Given the description of an element on the screen output the (x, y) to click on. 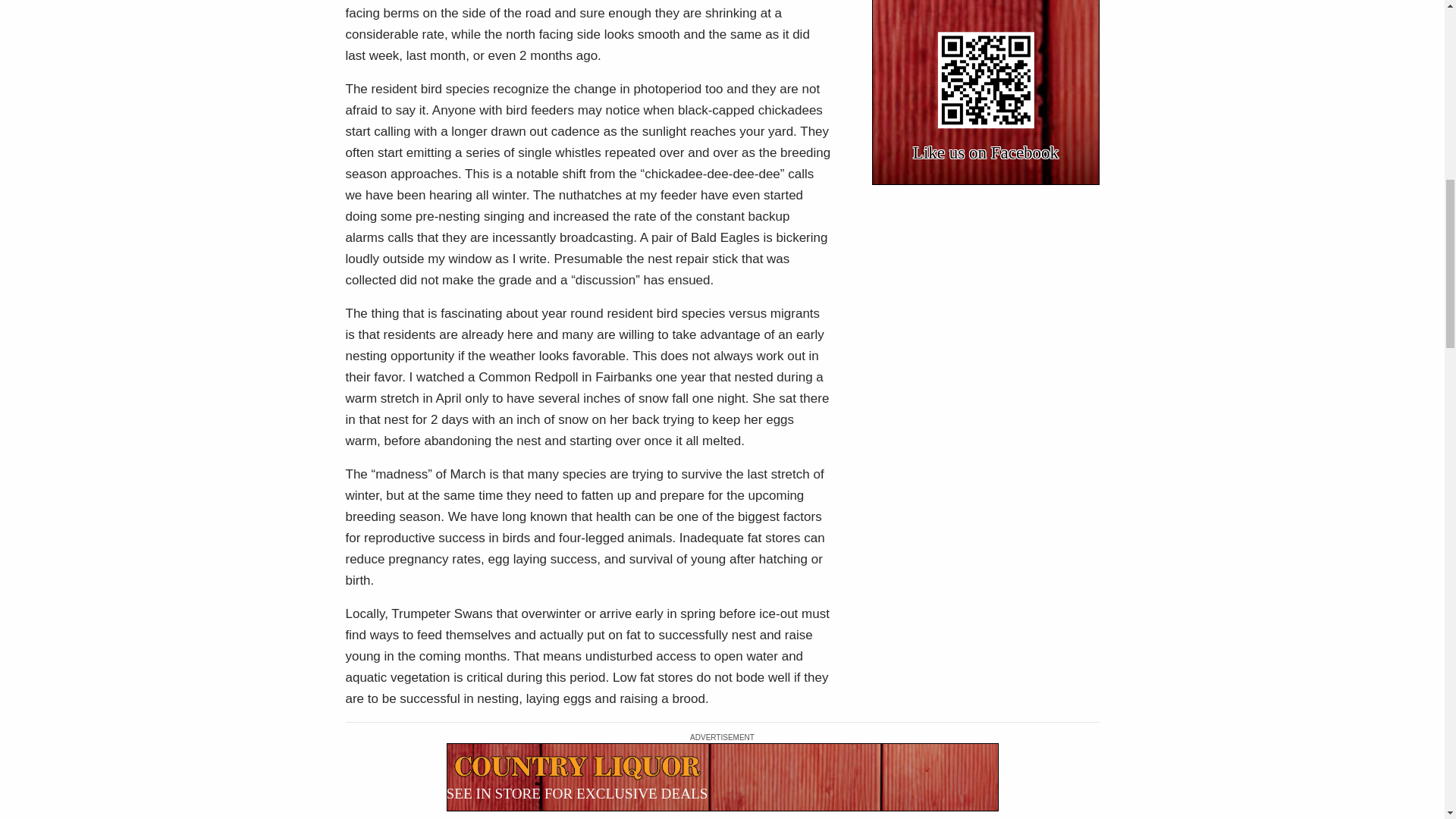
3rd party ad content (721, 776)
3rd party ad content (985, 92)
